Given the description of an element on the screen output the (x, y) to click on. 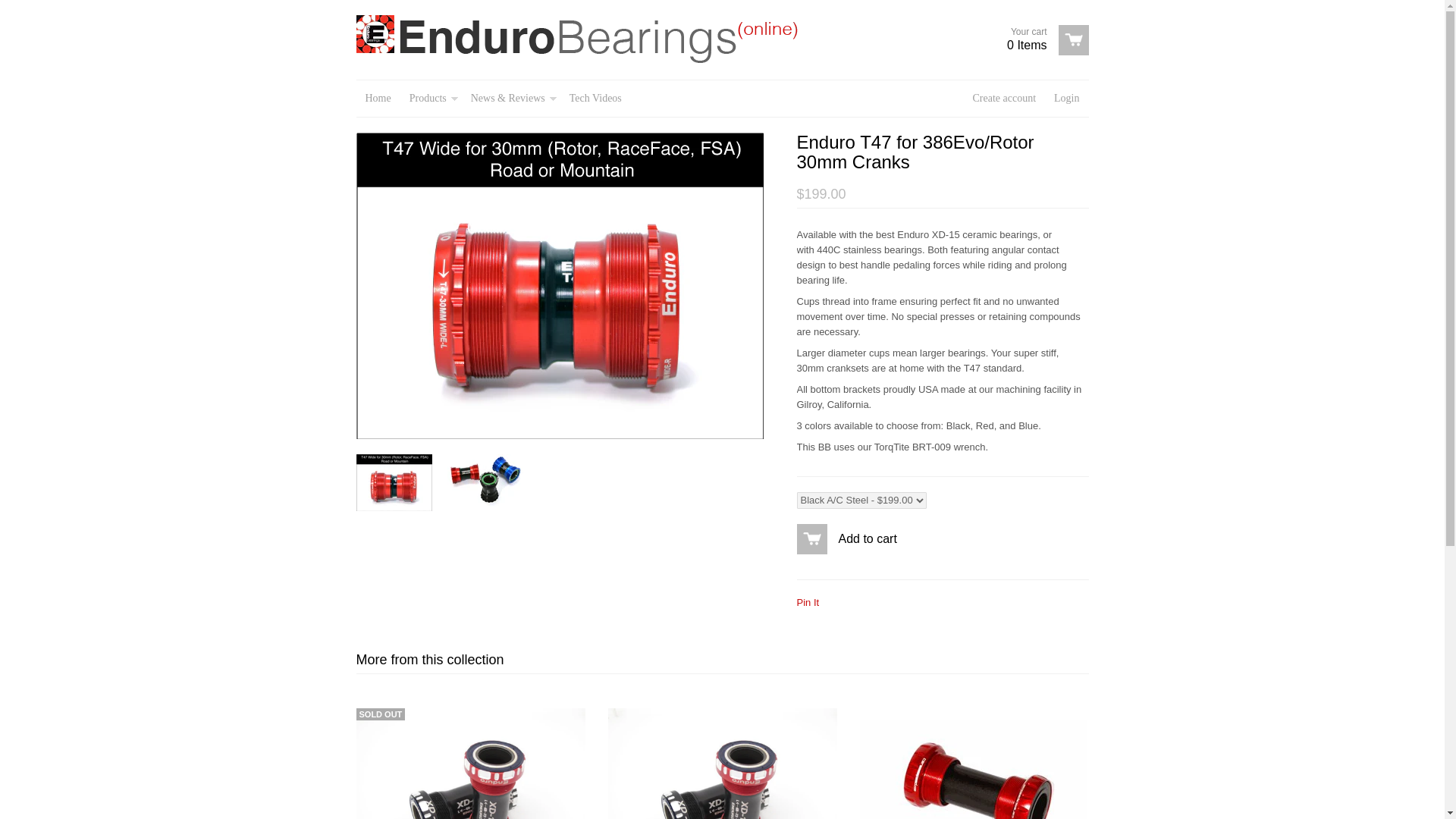
Products (430, 98)
Add to cart (27, 9)
Home (378, 98)
Pin It (807, 602)
Create account (1041, 39)
Tech Videos (1003, 98)
Login (595, 98)
